Given the description of an element on the screen output the (x, y) to click on. 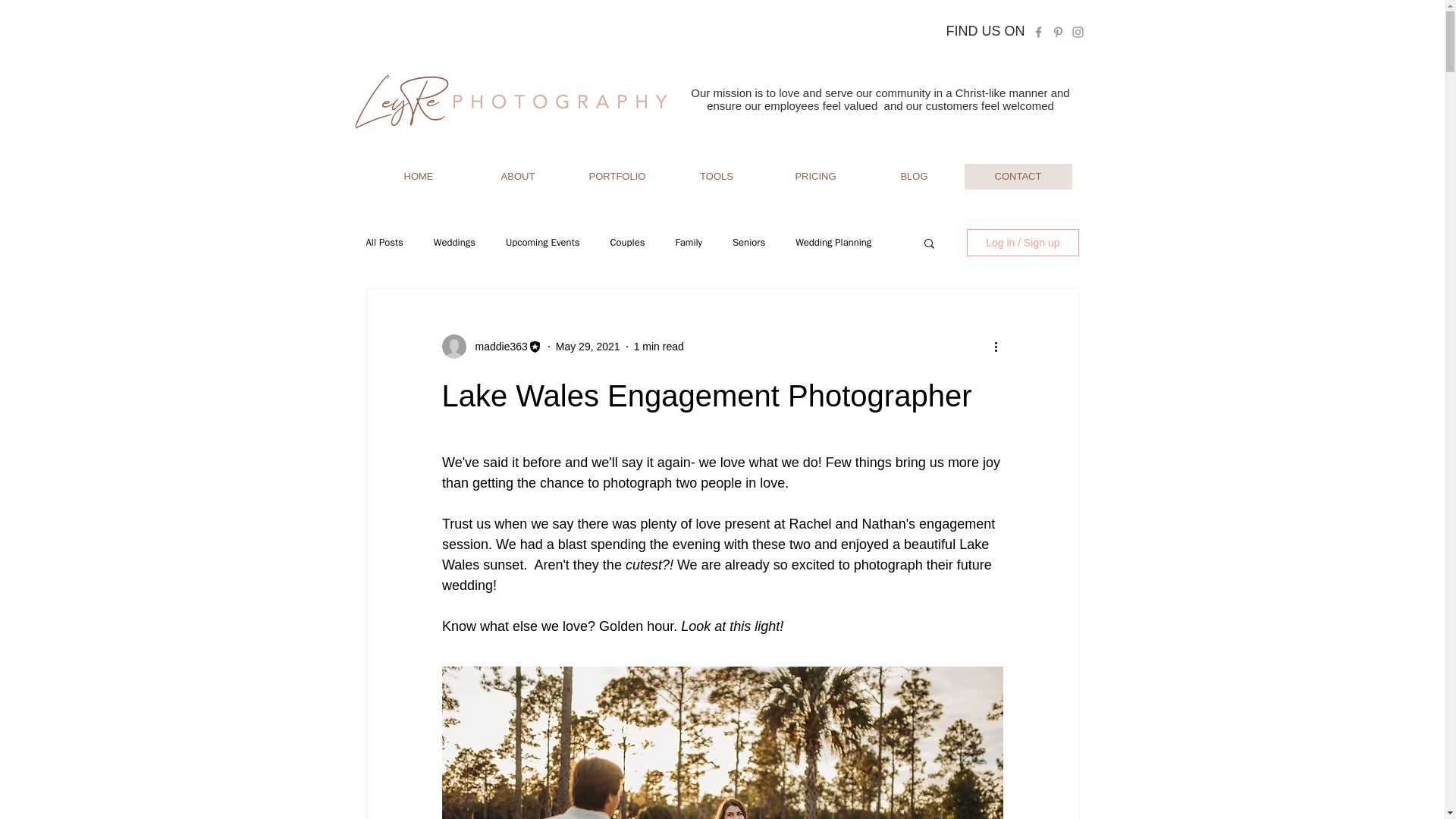
1 min read (658, 345)
CONTACT (1017, 176)
Seniors (748, 242)
Couples (627, 242)
May 29, 2021 (588, 345)
Family (688, 242)
maddie363 (496, 345)
PRICING (814, 176)
PORTFOLIO (616, 176)
Weddings (454, 242)
